Given the description of an element on the screen output the (x, y) to click on. 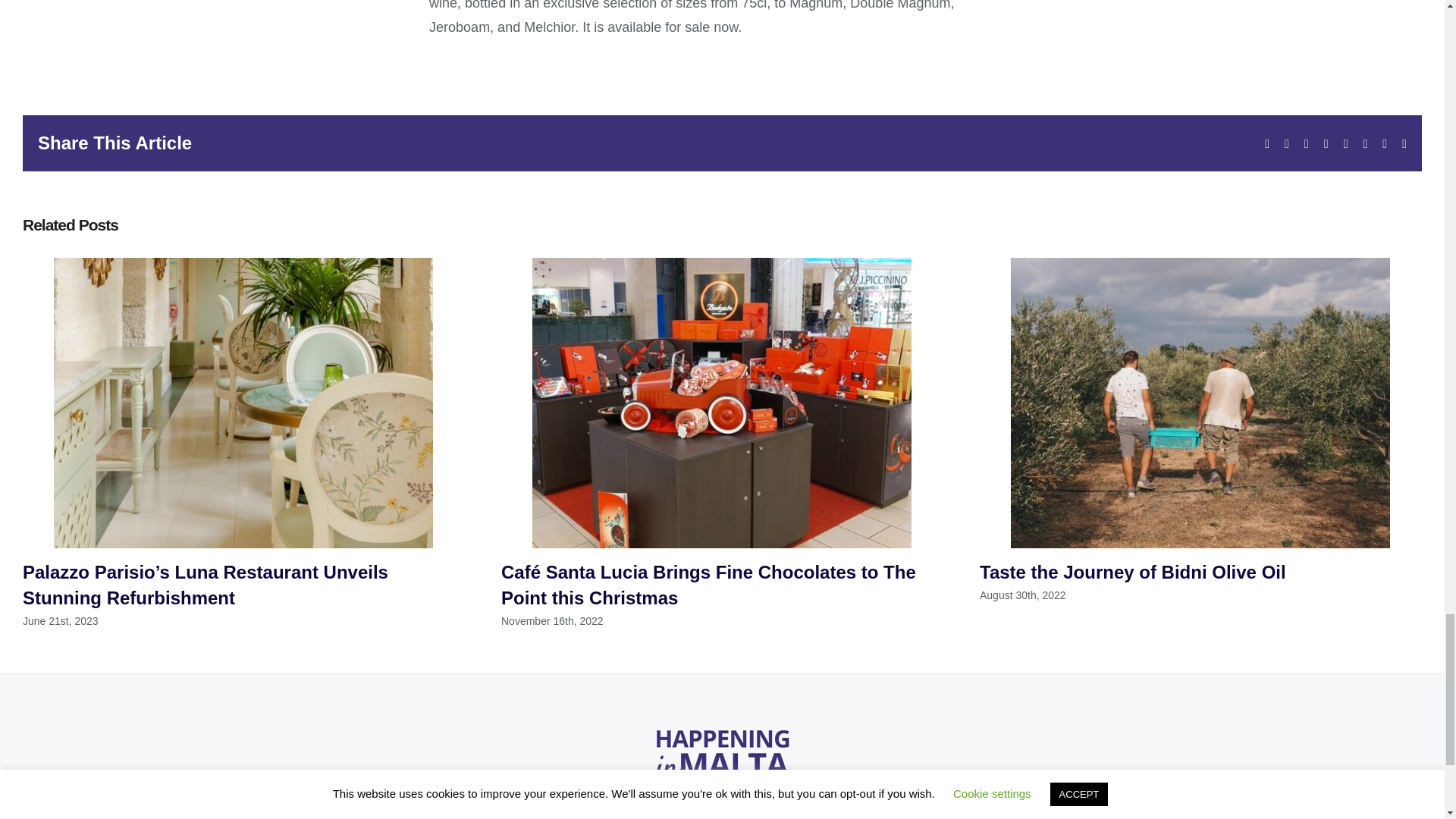
Taste the Journey of Bidni Olive Oil (1132, 571)
Taste the Journey of Bidni Olive Oil (1132, 571)
